Given the description of an element on the screen output the (x, y) to click on. 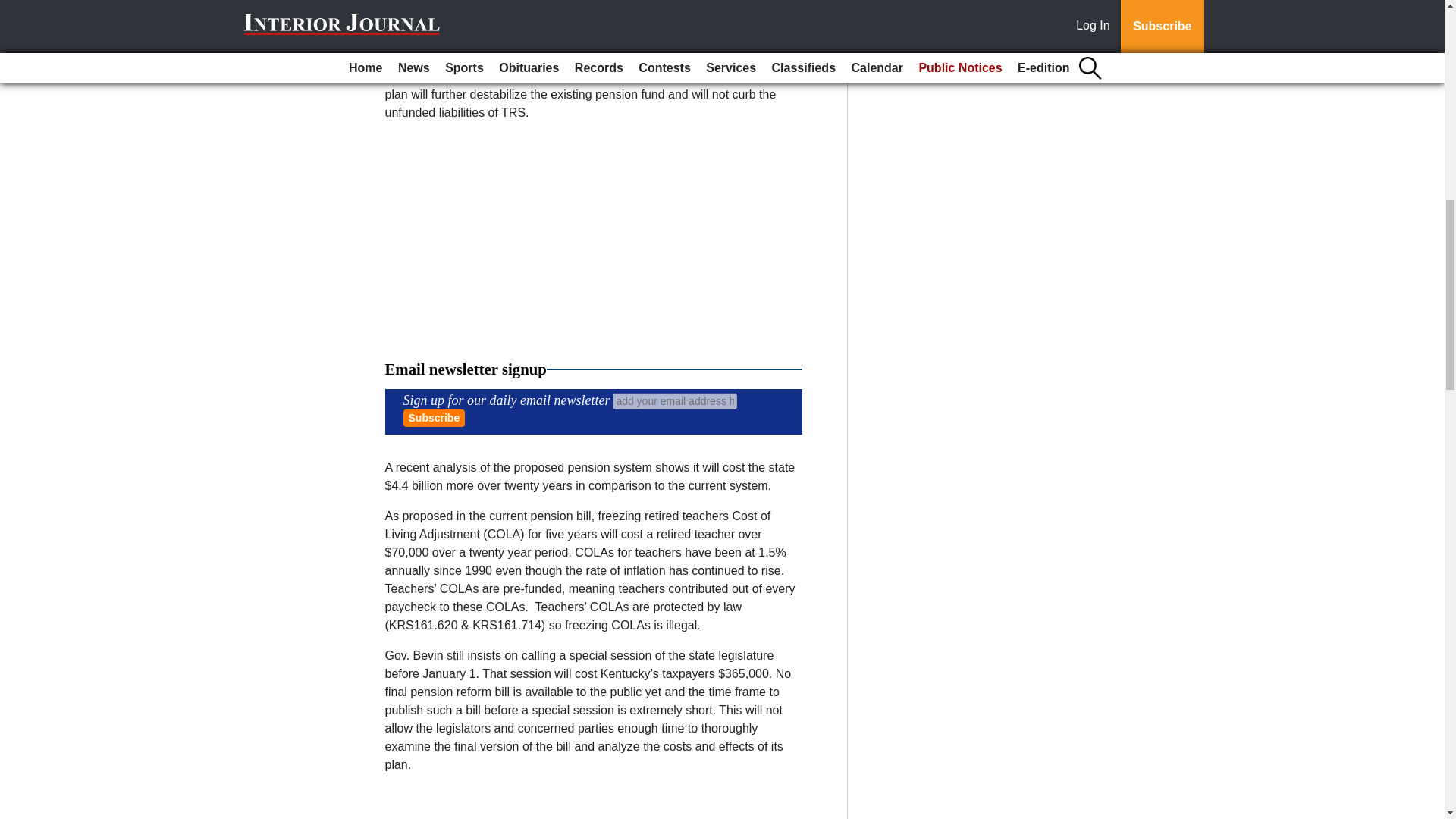
Subscribe (434, 417)
Subscribe (434, 417)
